Given the description of an element on the screen output the (x, y) to click on. 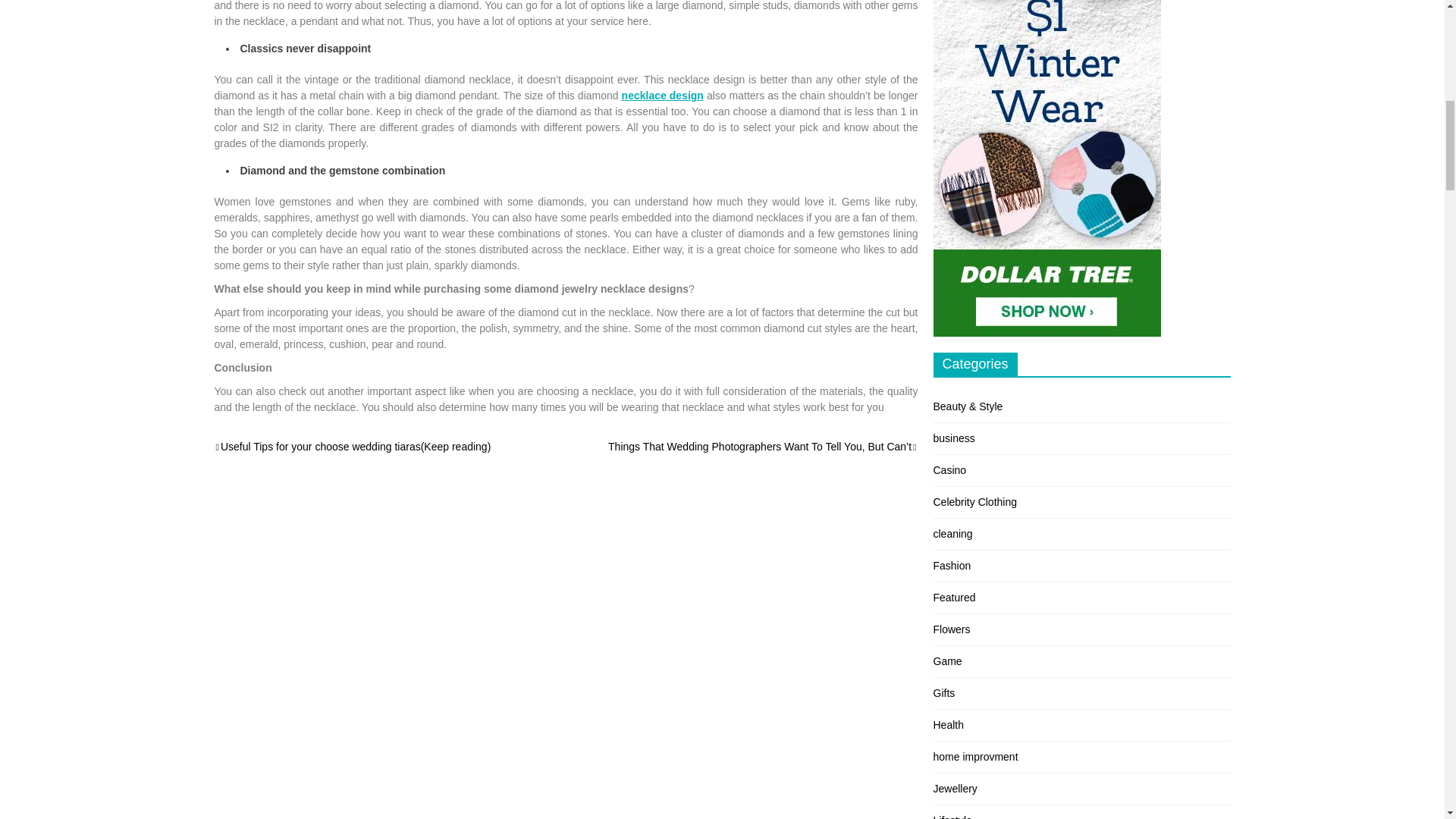
business (953, 438)
Fashion (952, 565)
Flowers (951, 629)
home improvment (975, 756)
Featured (954, 597)
Jewellery (954, 788)
Lifestyle (952, 816)
Casino (949, 469)
Celebrity Clothing (974, 501)
Gifts (944, 693)
cleaning (952, 533)
Game (946, 661)
Health (947, 725)
necklace design (662, 95)
